Given the description of an element on the screen output the (x, y) to click on. 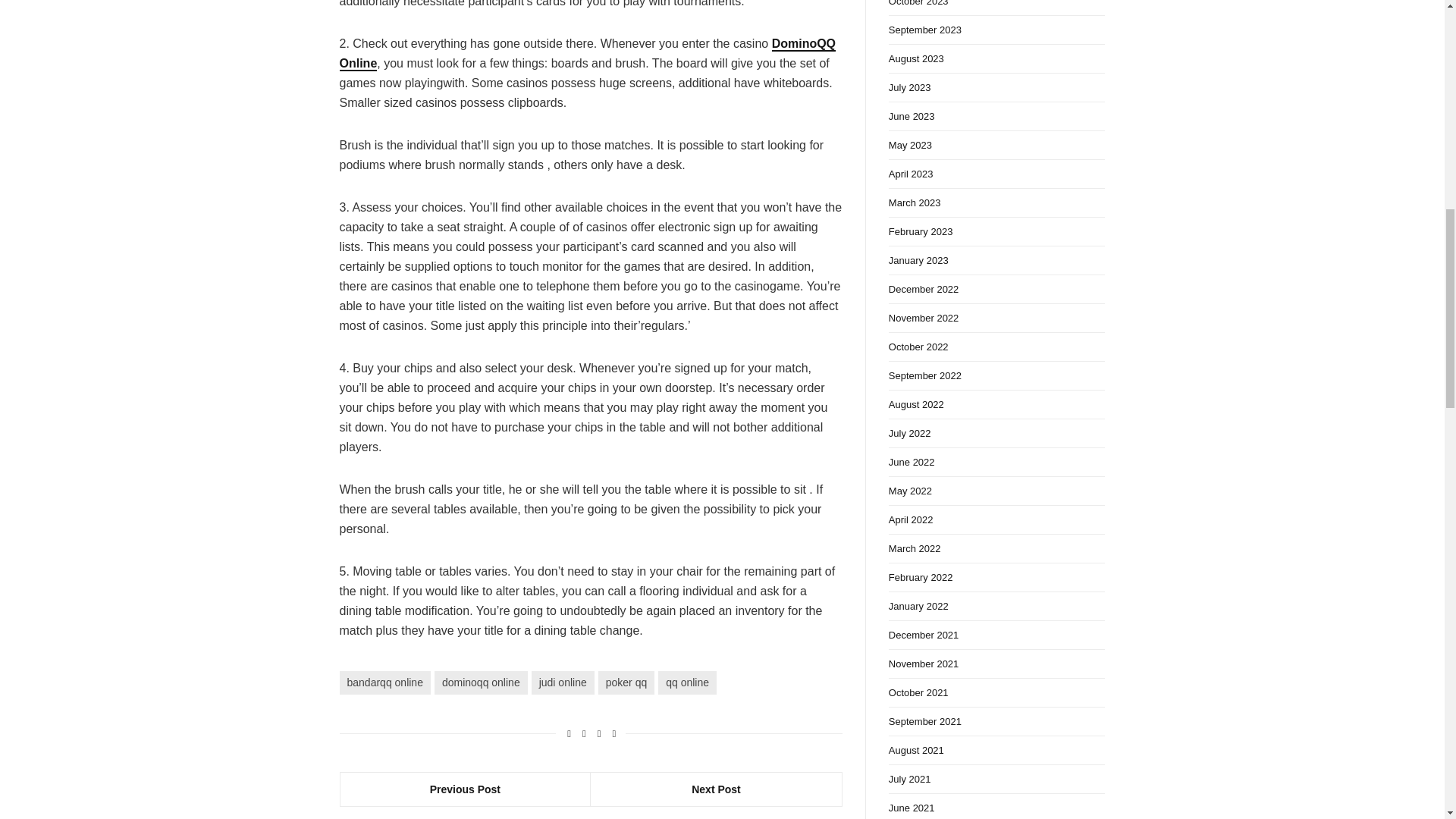
Previous Post (465, 789)
DominoQQ Online (587, 53)
judi online (562, 682)
qq online (687, 682)
poker qq (625, 682)
Next Post (716, 789)
dominoqq online (480, 682)
bandarqq online (384, 682)
